Given the description of an element on the screen output the (x, y) to click on. 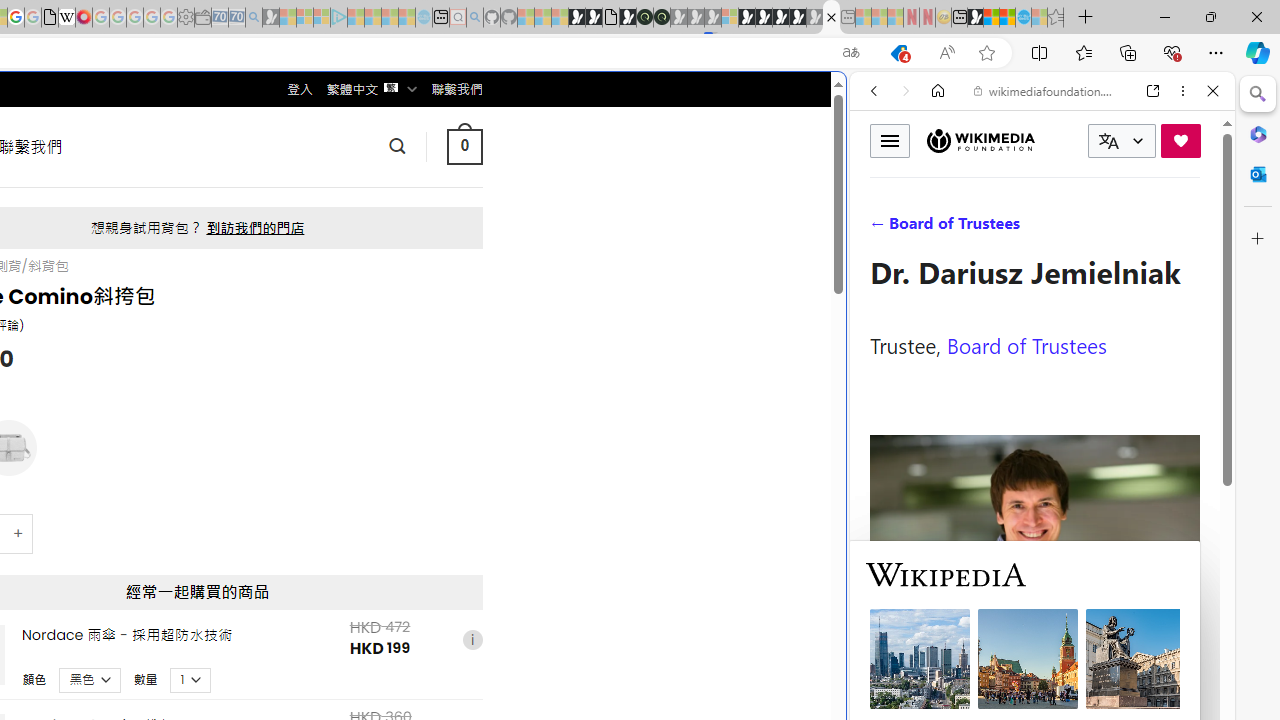
  0   (464, 146)
CURRENT LANGUAGE: (1121, 141)
Wikimedia Foundation (980, 141)
Class: i icon icon-translate language-switcher__icon (1108, 141)
